Given the description of an element on the screen output the (x, y) to click on. 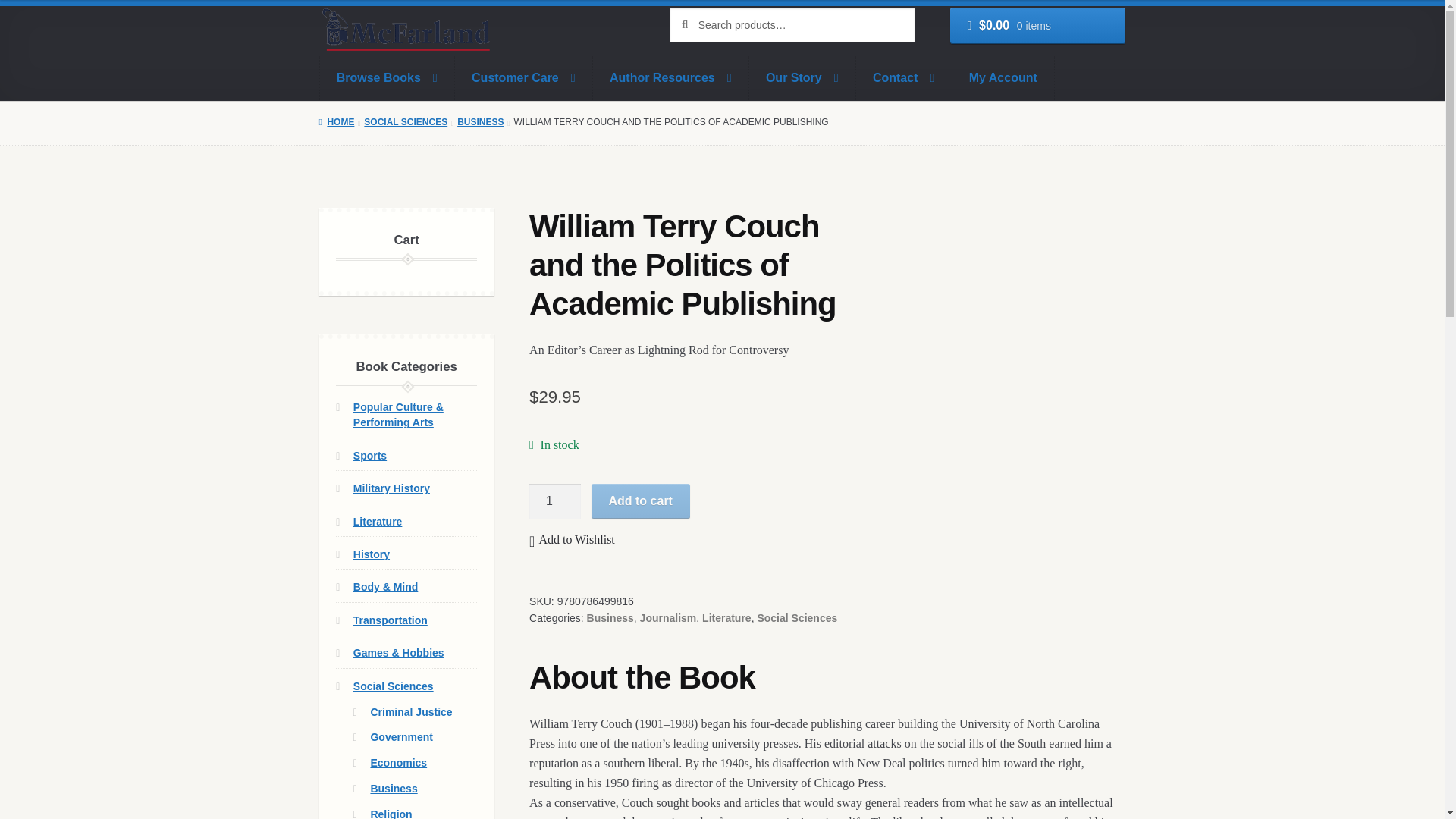
View your shopping cart (1037, 25)
Browse Books (386, 77)
1 (554, 501)
